Given the description of an element on the screen output the (x, y) to click on. 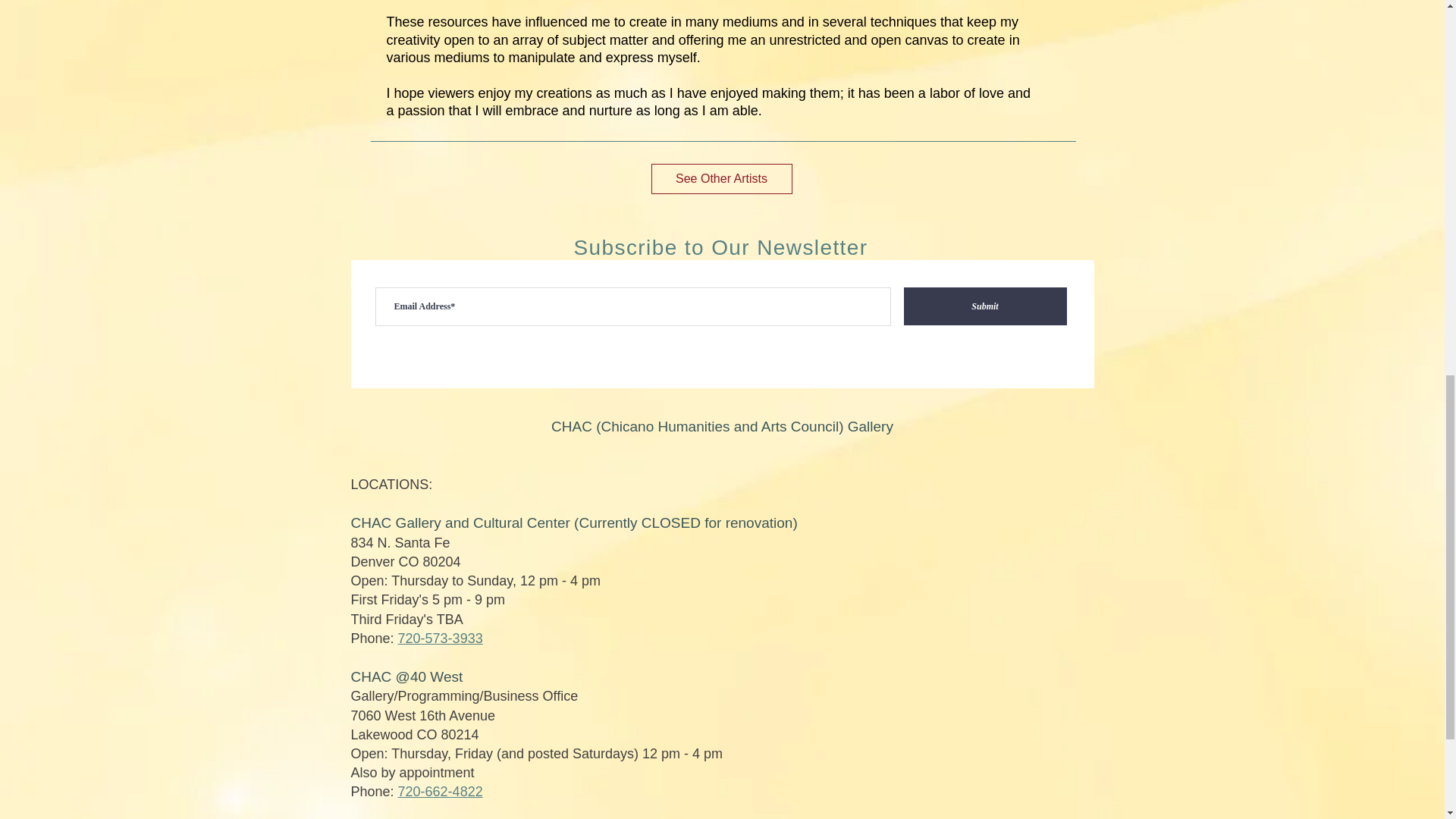
See Other Artists (721, 178)
720-662-4822 (440, 791)
Submit (985, 306)
720-573-3933 (440, 638)
